Given the description of an element on the screen output the (x, y) to click on. 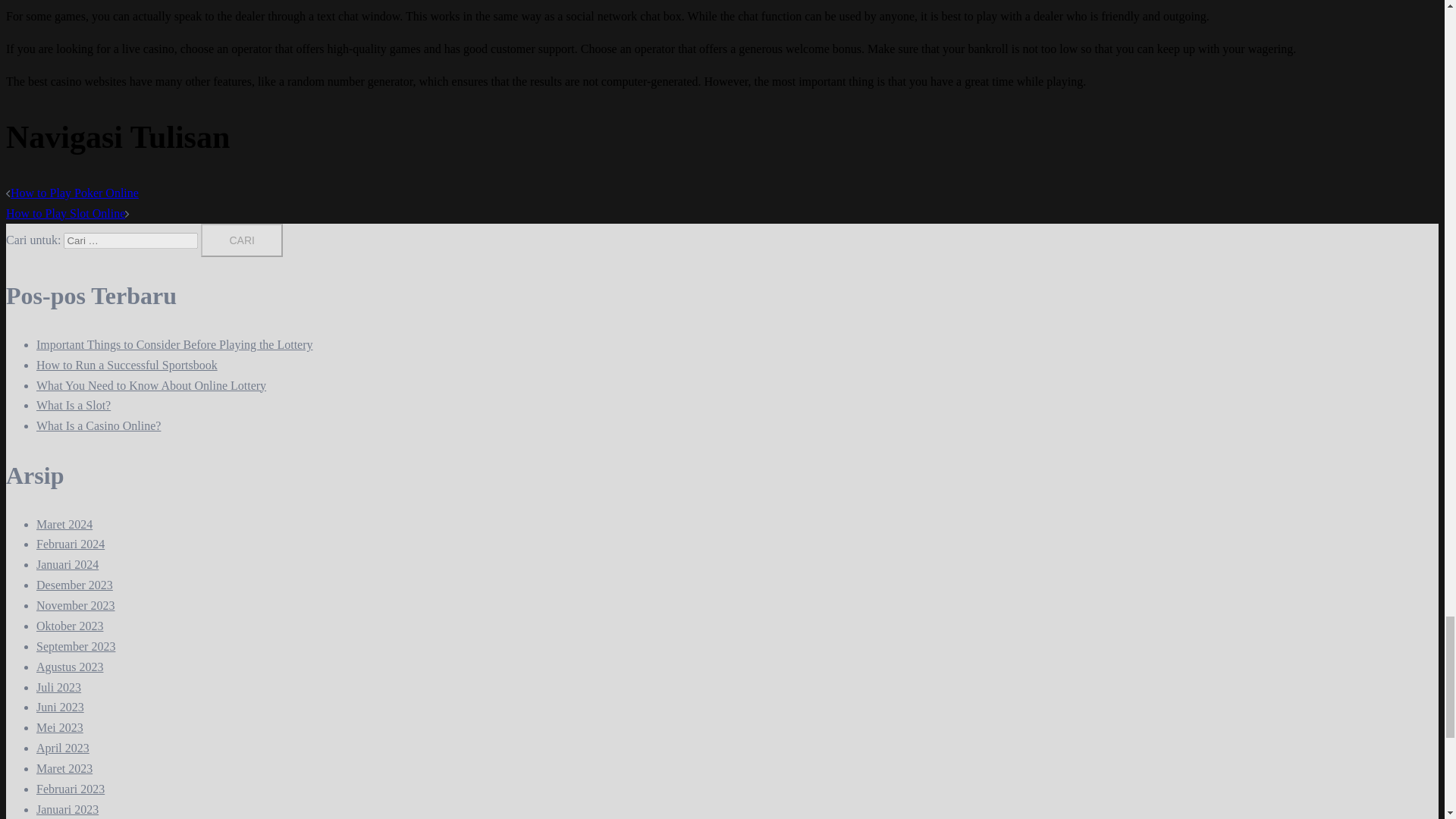
What Is a Casino Online? (98, 425)
Important Things to Consider Before Playing the Lottery (174, 344)
Juli 2023 (58, 686)
Desember 2023 (74, 584)
Mei 2023 (59, 727)
Maret 2024 (64, 523)
Agustus 2023 (69, 666)
April 2023 (62, 748)
Juni 2023 (60, 707)
Februari 2023 (70, 788)
